Given the description of an element on the screen output the (x, y) to click on. 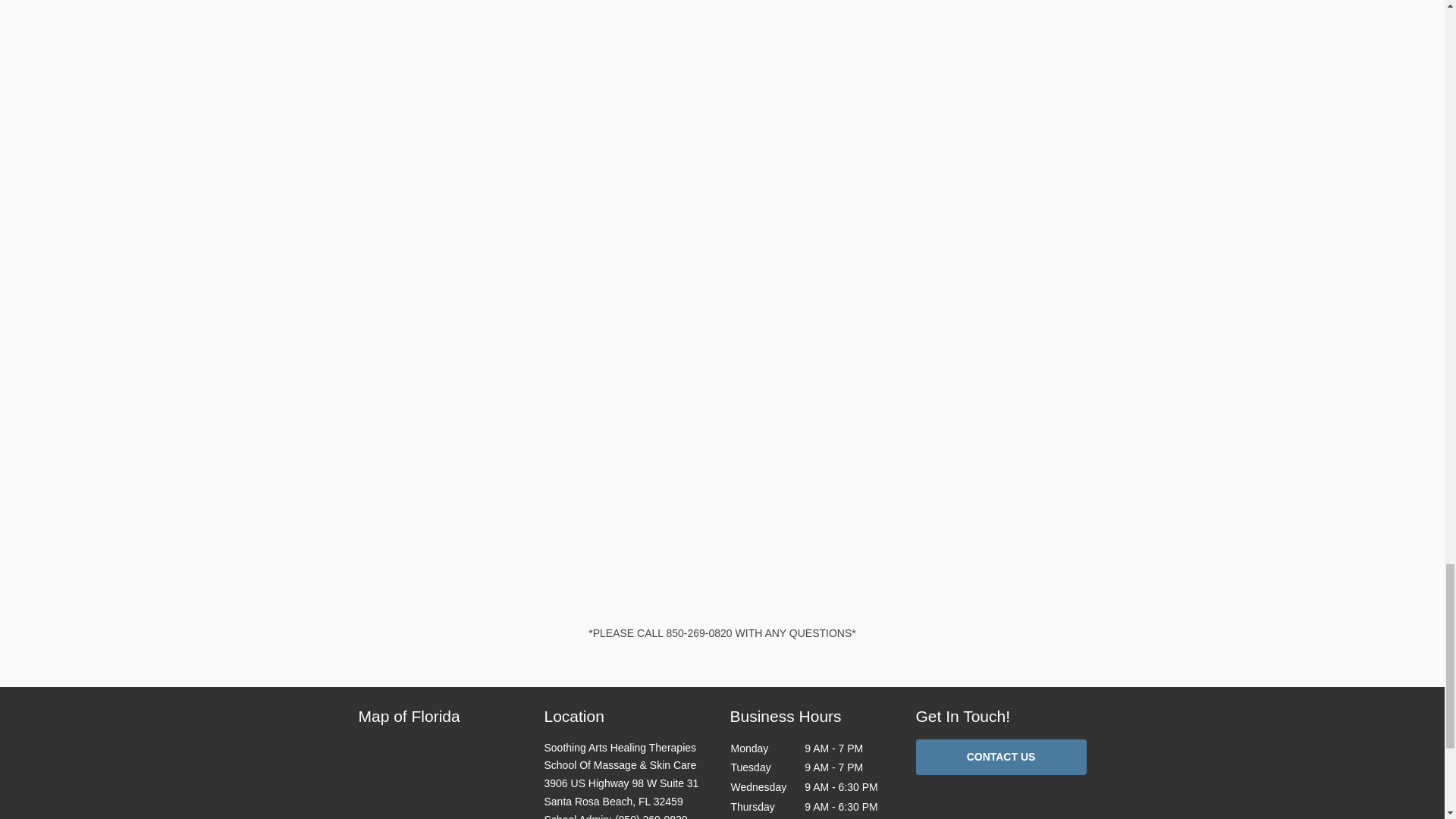
Click to open a larger map (443, 779)
CONTACT US (1000, 757)
